Given the description of an element on the screen output the (x, y) to click on. 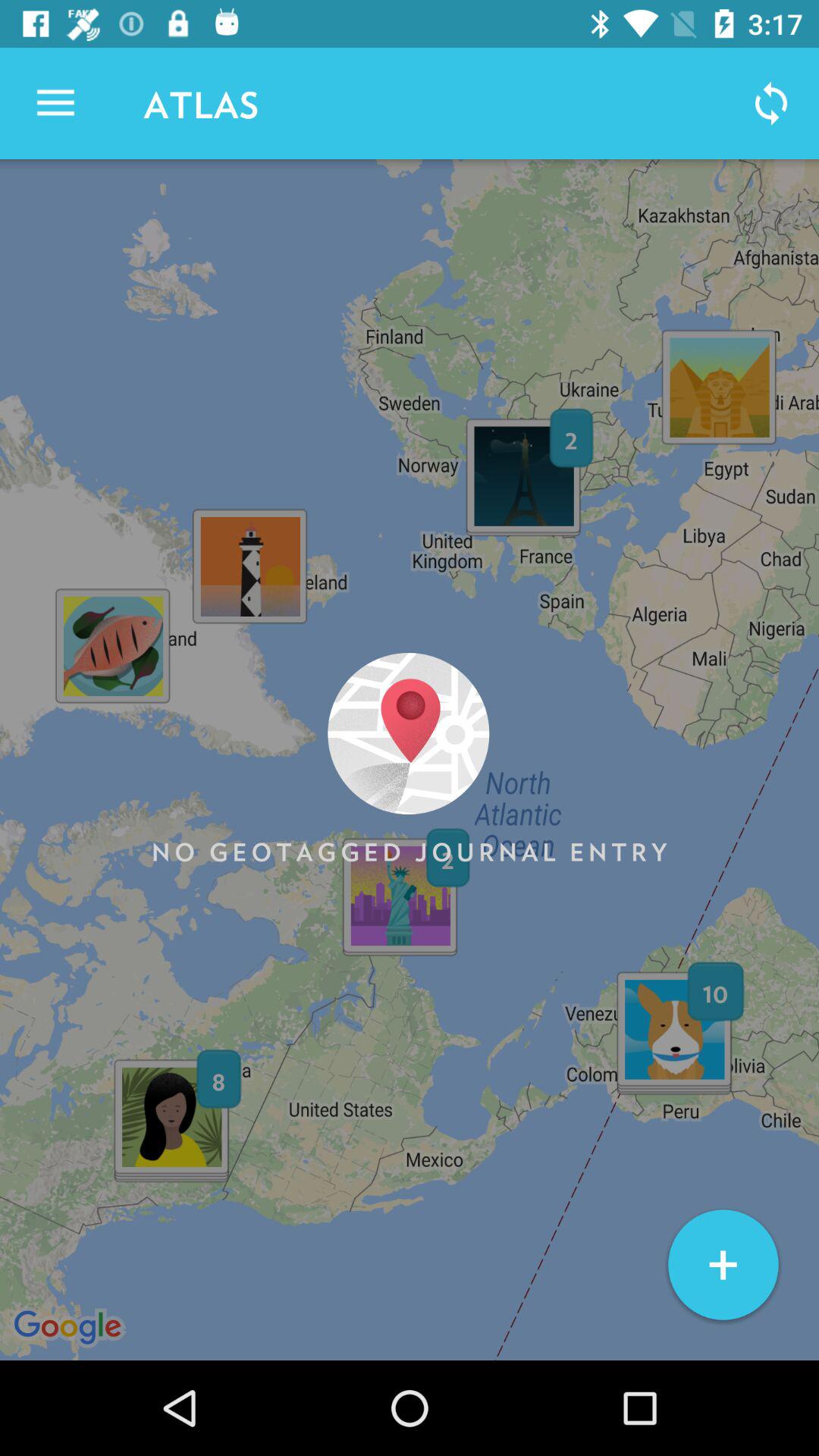
open item next to atlas (55, 103)
